Given the description of an element on the screen output the (x, y) to click on. 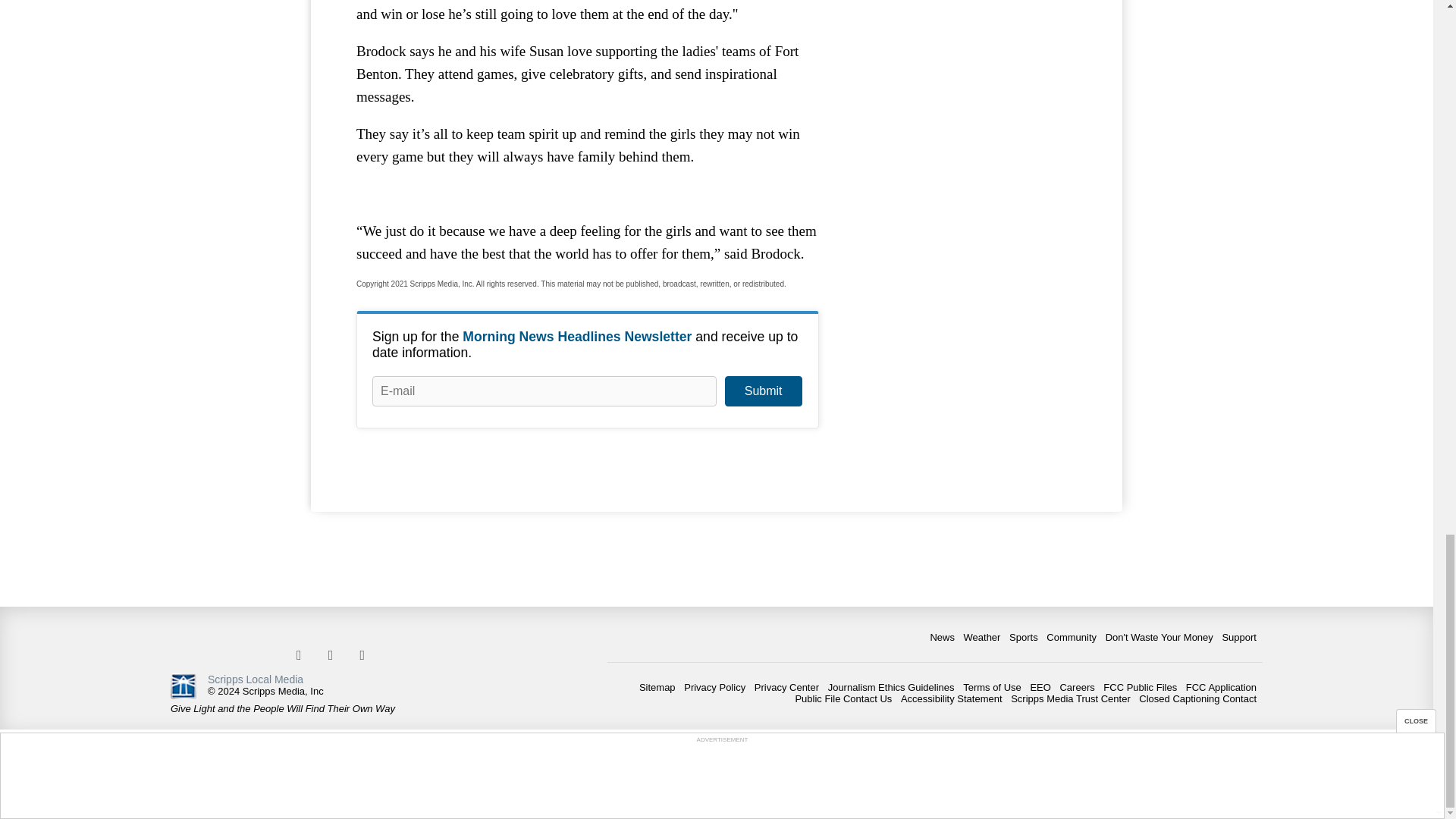
Submit (763, 390)
